Given the description of an element on the screen output the (x, y) to click on. 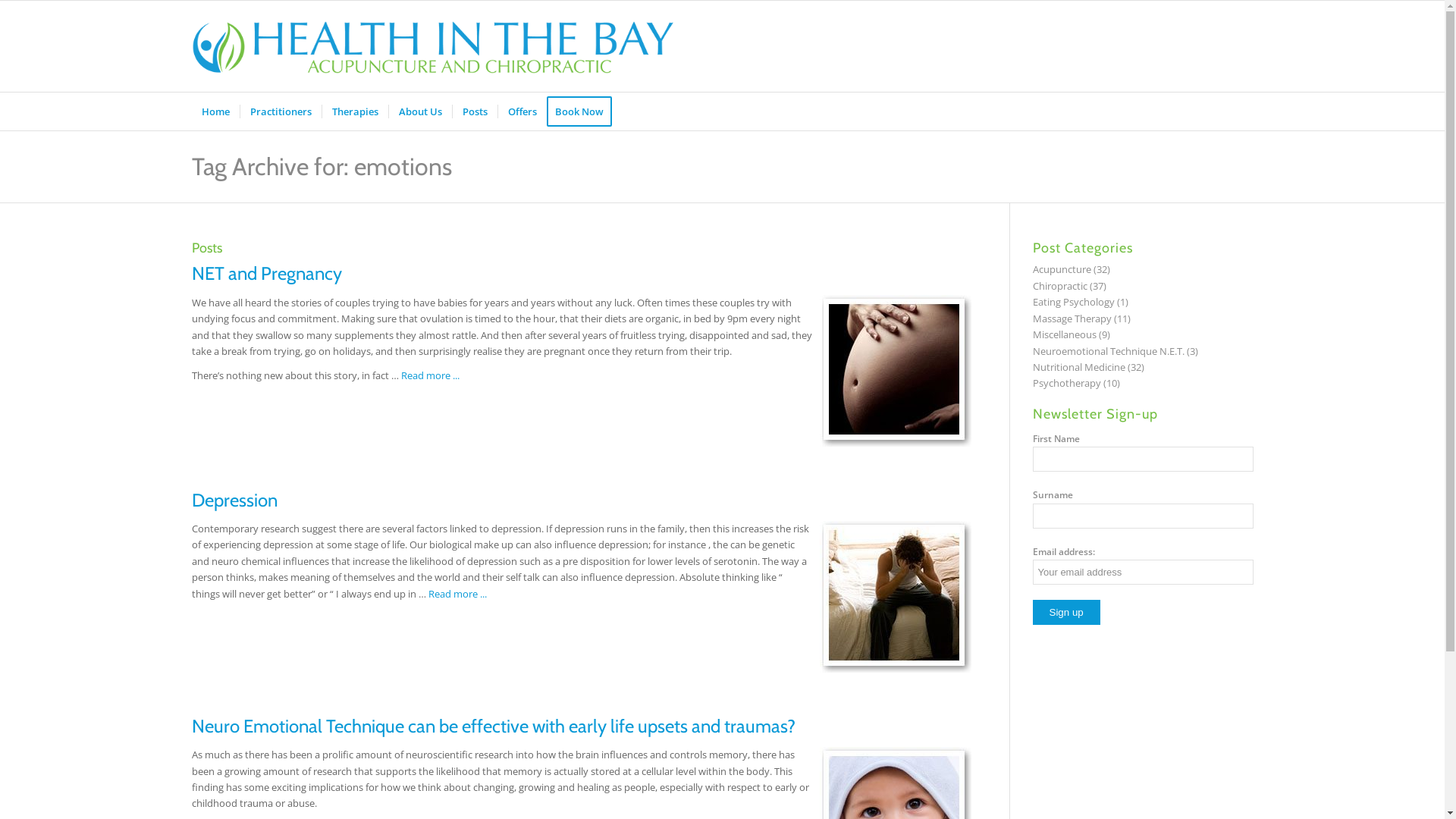
NET and Pregnancy Element type: text (266, 273)
Sign up Element type: text (1066, 611)
Massage Therapy Element type: text (1071, 318)
Book Now Element type: text (583, 111)
Read more ... Element type: text (456, 593)
Home Element type: text (214, 111)
Tag Archive for: emotions Element type: text (321, 166)
Read more ... Element type: text (429, 375)
Nutritional Medicine Element type: text (1078, 366)
Miscellaneous Element type: text (1064, 334)
Depression Element type: text (233, 500)
Chiropractic Element type: text (1059, 285)
Acupuncture Element type: text (1061, 269)
Therapies Element type: text (354, 111)
Posts Element type: text (474, 111)
About Us Element type: text (419, 111)
Neuroemotional Technique N.E.T. Element type: text (1108, 350)
Practitioners Element type: text (280, 111)
Psychotherapy Element type: text (1066, 382)
Eating Psychology Element type: text (1073, 301)
Offers Element type: text (521, 111)
